Given the description of an element on the screen output the (x, y) to click on. 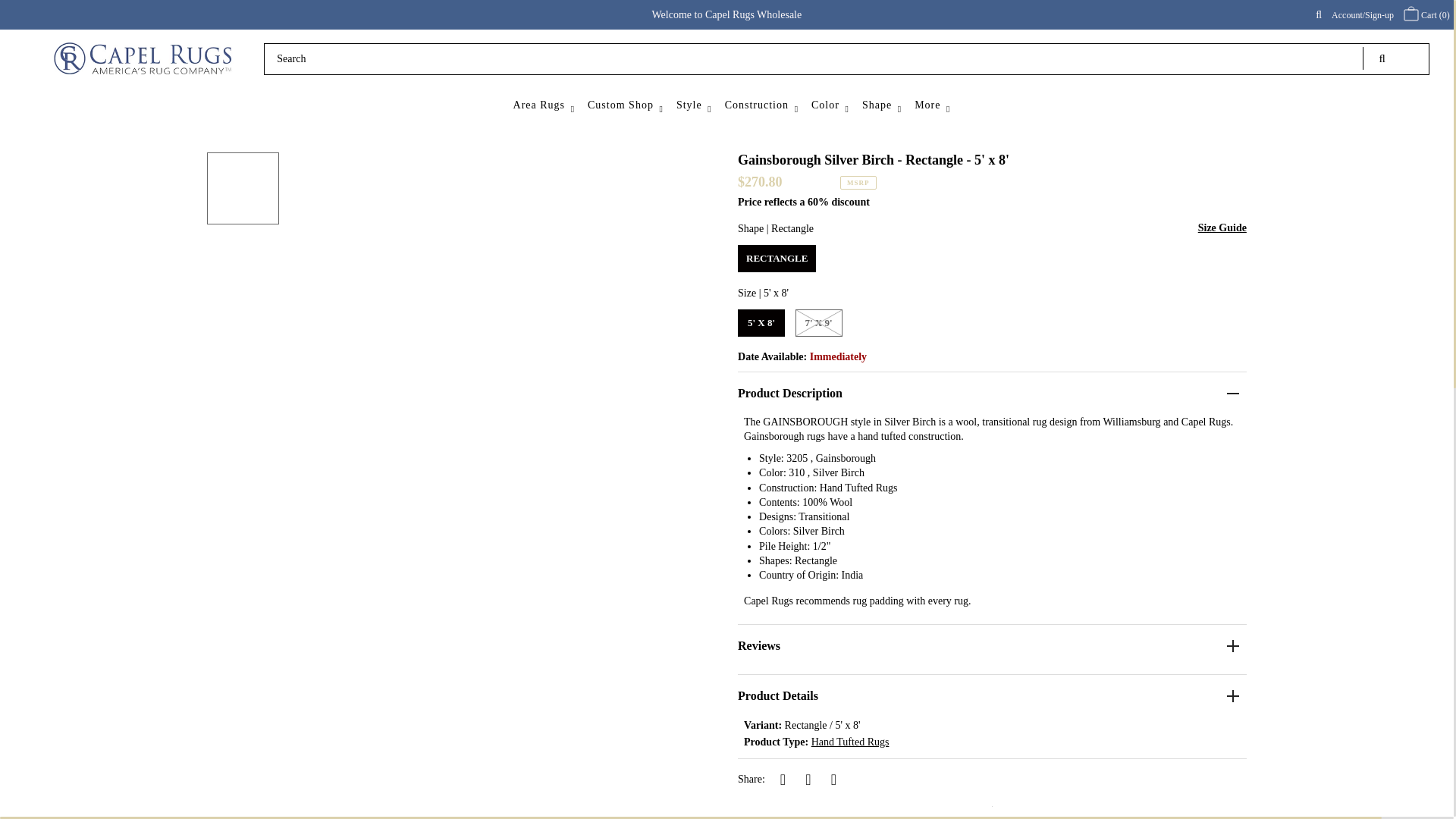
Share on Twitter (807, 779)
Hand Tufted Rugs (849, 741)
Share on Facebook (782, 779)
Share on Pinterest (833, 779)
